Given the description of an element on the screen output the (x, y) to click on. 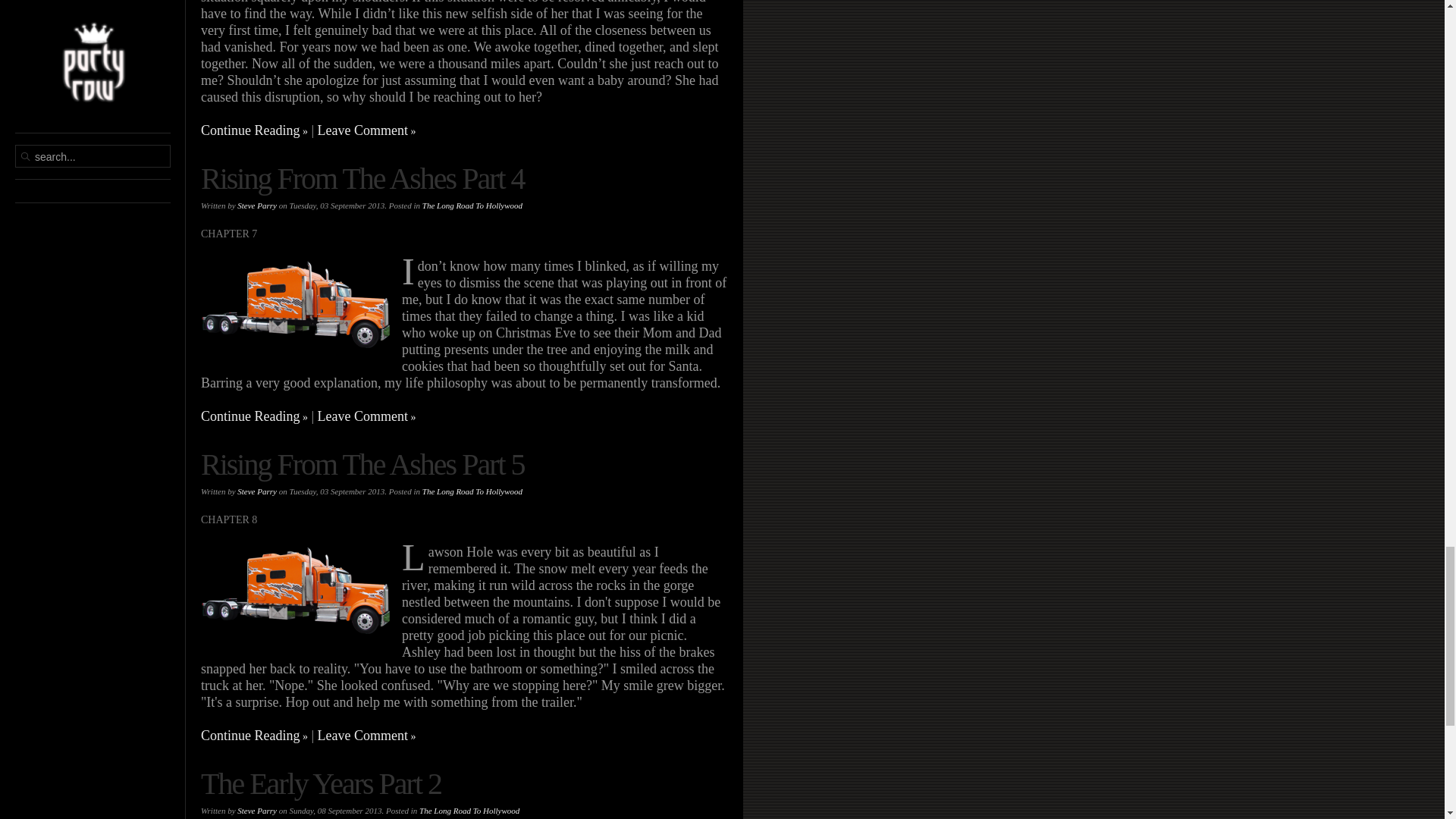
Leave Comment (366, 130)
Continue Reading (253, 130)
Rising From The Ashes Part 4 (362, 178)
